Given the description of an element on the screen output the (x, y) to click on. 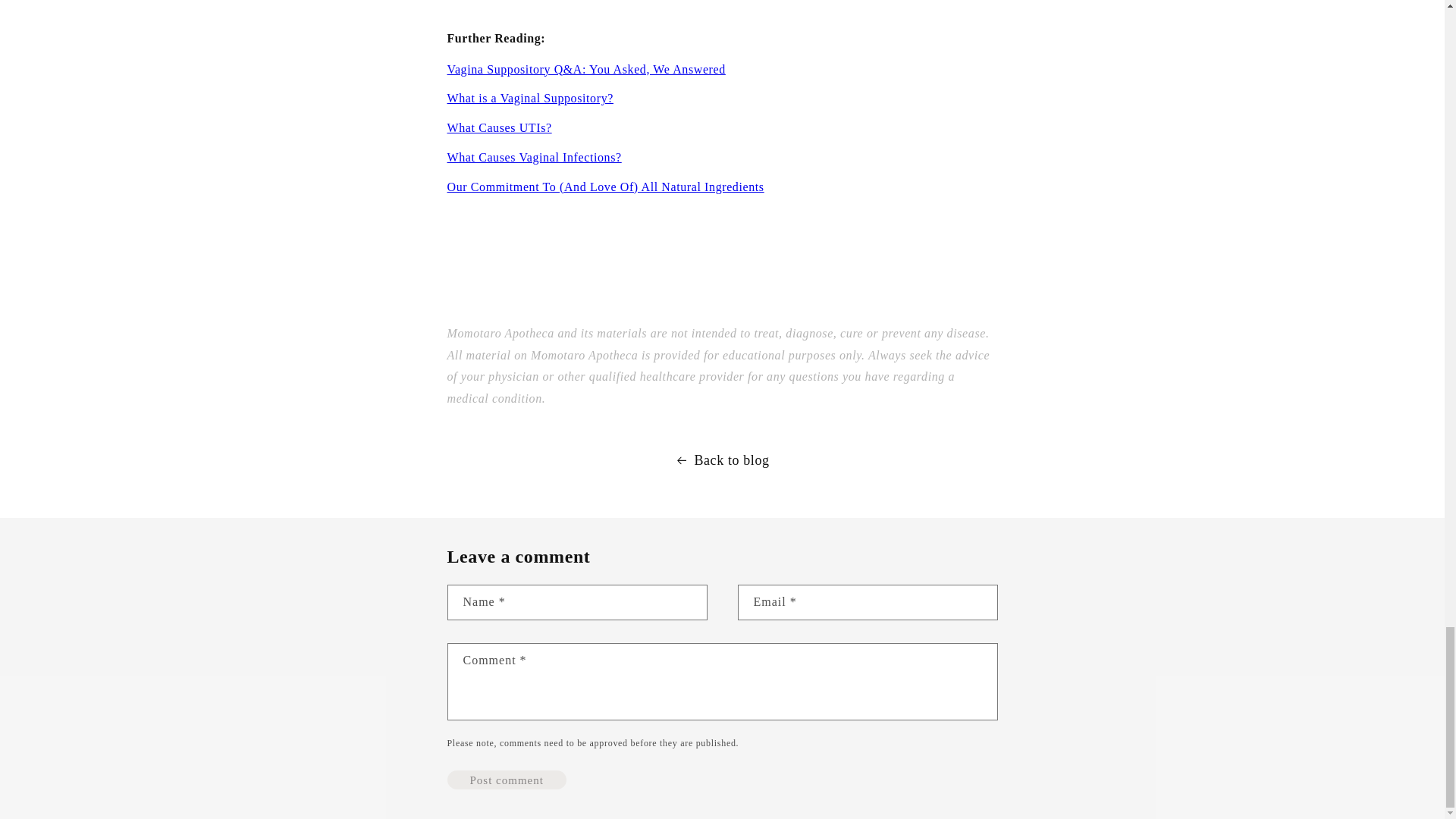
What Causes Vaginal Infections? blog (533, 156)
What Causes UTIs? (498, 127)
What is a Vaginal Suppository? (529, 97)
What Causes Vaginal Infections? (533, 156)
Post comment (506, 779)
Our Commitment To All Natural Ingredients blog (605, 186)
What Causes UTIs? blog (498, 127)
What is a Vaginal Suppository? blog (529, 97)
